Given the description of an element on the screen output the (x, y) to click on. 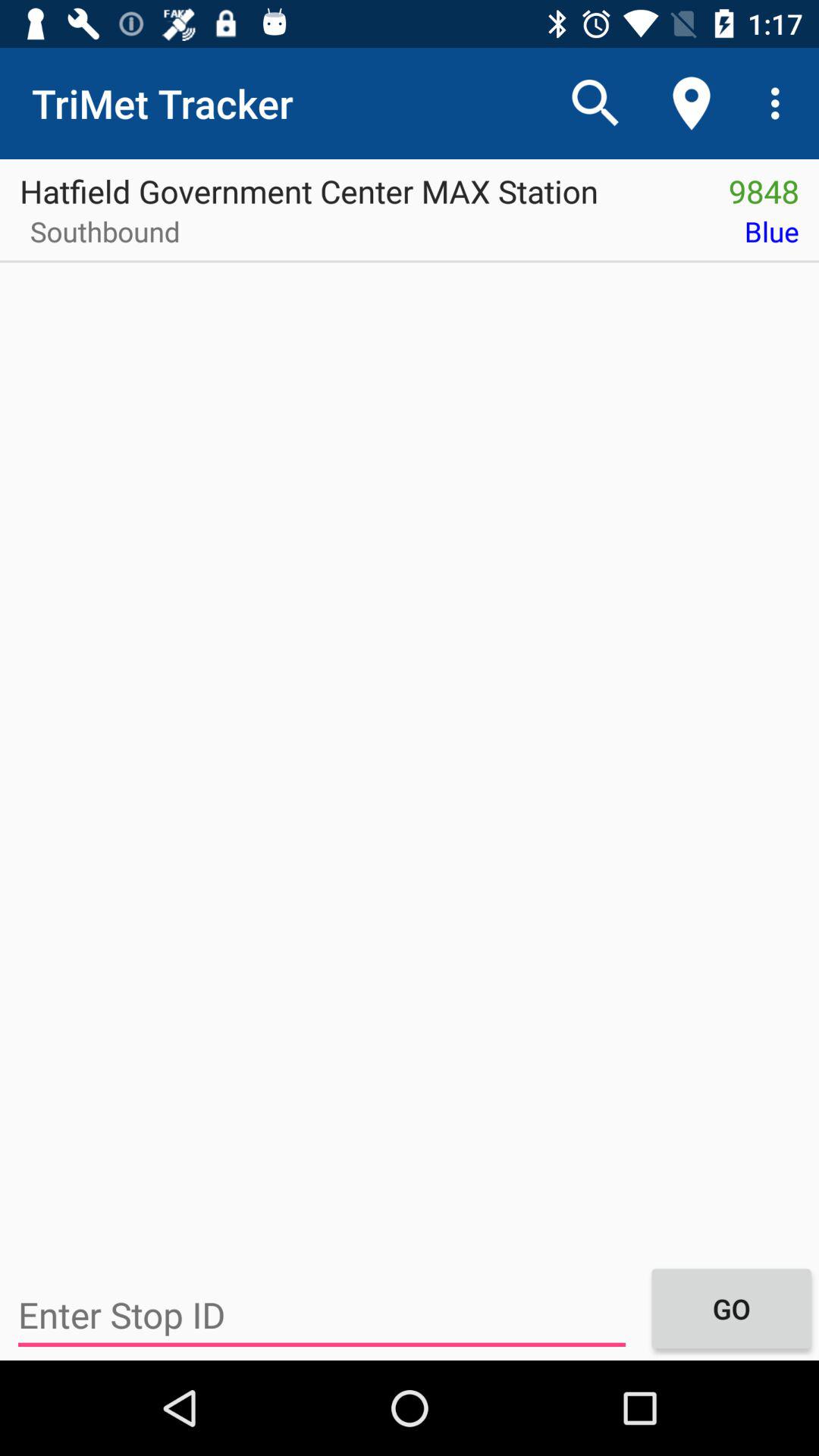
launch the icon at the bottom right corner (731, 1308)
